Given the description of an element on the screen output the (x, y) to click on. 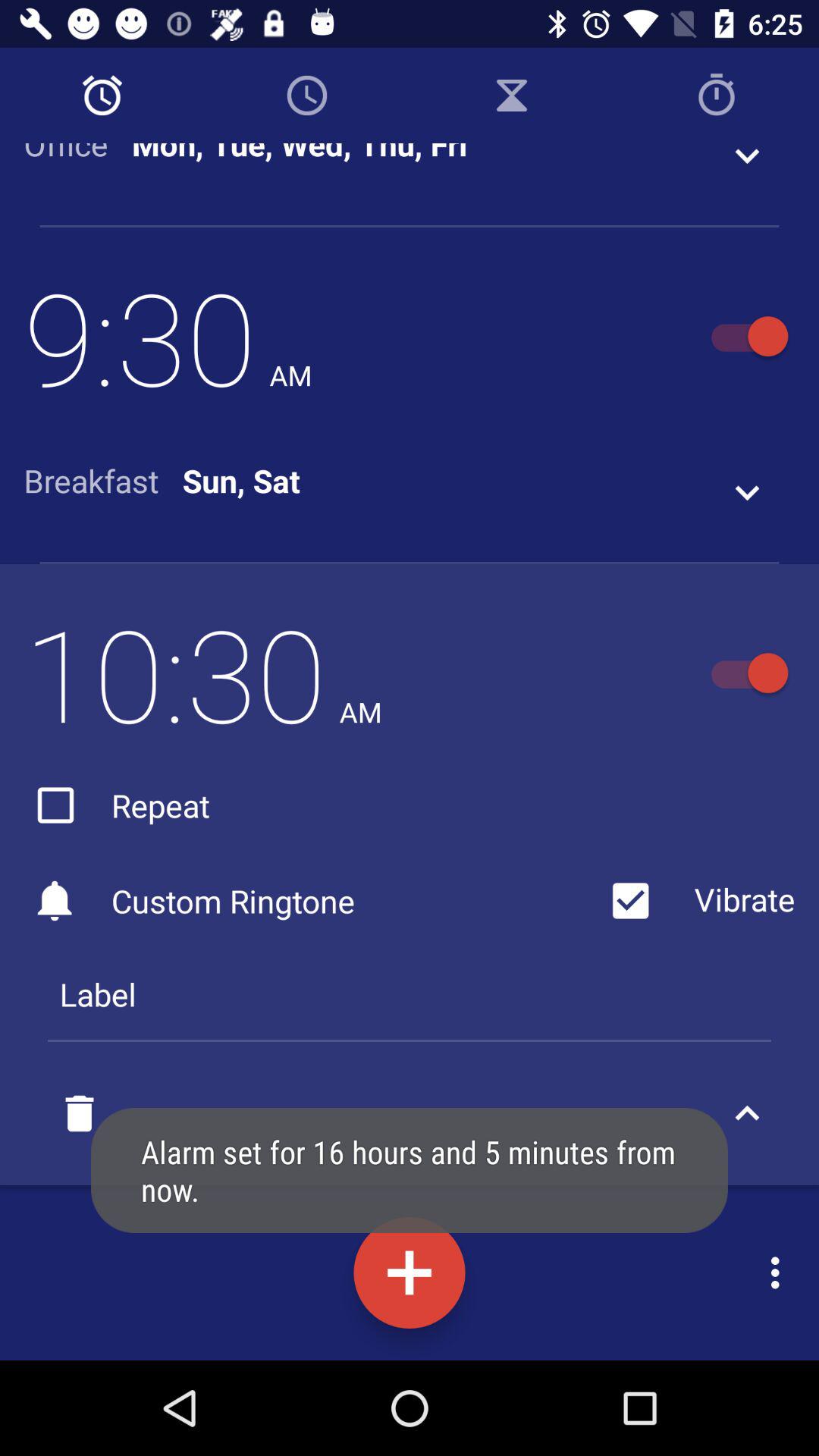
choose icon above label item (310, 900)
